Given the description of an element on the screen output the (x, y) to click on. 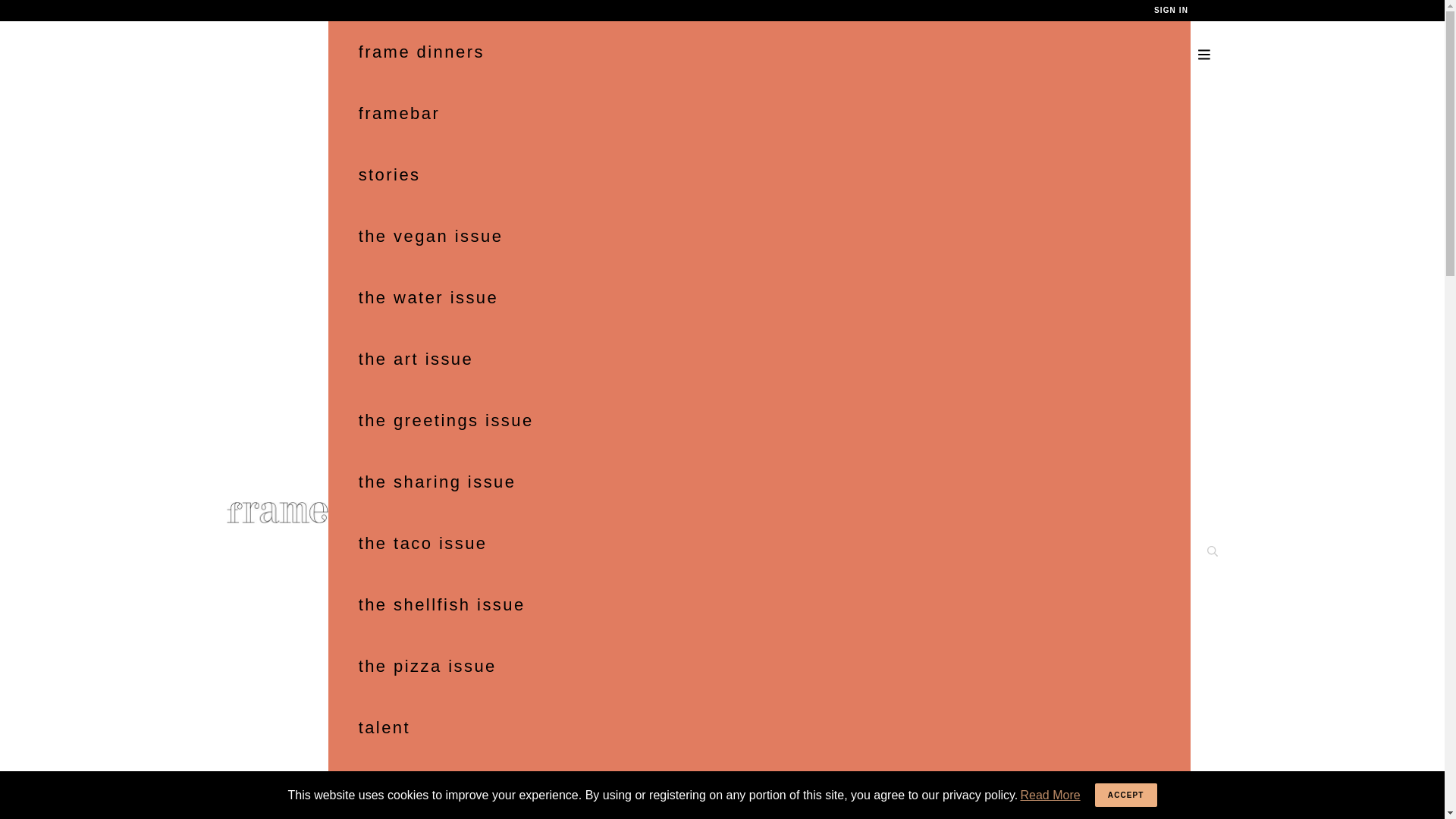
stories (760, 174)
the taco issue (760, 543)
frame dinners (760, 51)
about (760, 788)
the shellfish issue (760, 604)
the greetings issue (760, 420)
the water issue (760, 297)
the art issue (760, 358)
SIGN IN (1171, 9)
the sharing issue (760, 481)
framebar (760, 113)
the vegan issue (760, 235)
ACCEPT (1125, 794)
Read More (1050, 793)
the pizza issue (760, 665)
